Given the description of an element on the screen output the (x, y) to click on. 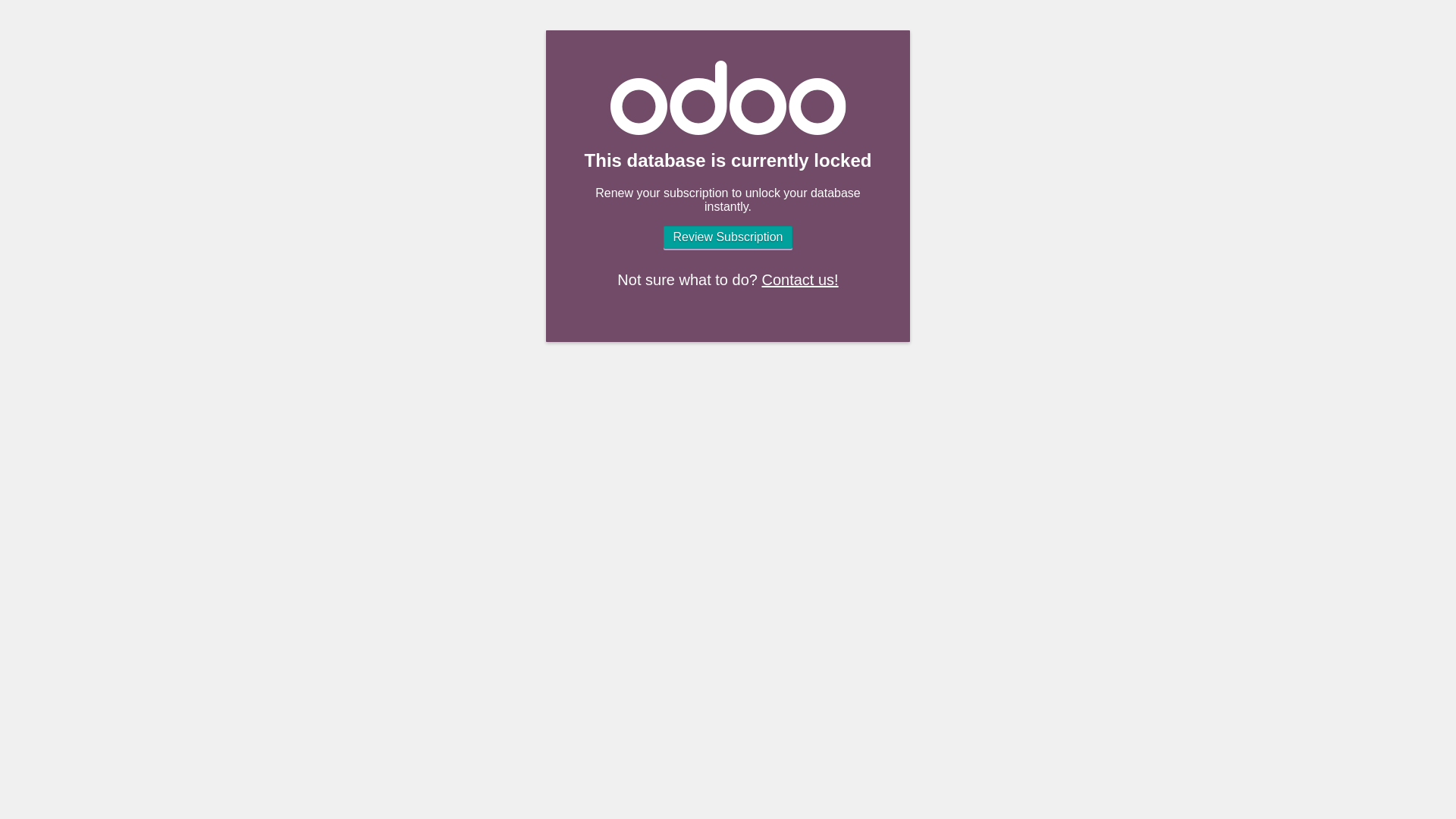
Review Subscription (728, 237)
Contact us! (799, 279)
